Given the description of an element on the screen output the (x, y) to click on. 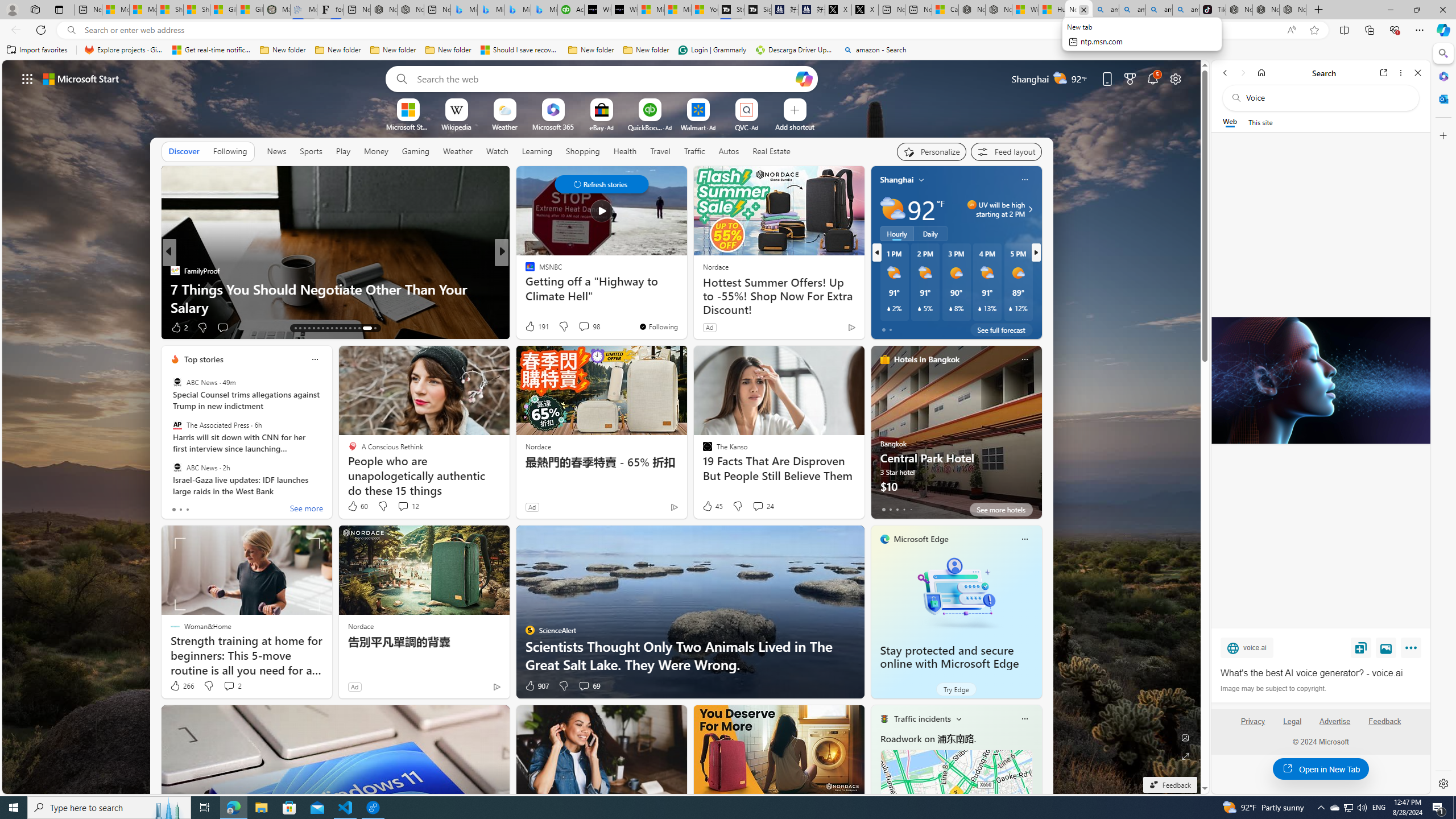
Autos (728, 151)
next (1035, 252)
Add a site (793, 126)
View image (1385, 647)
ABC News (176, 466)
Feed settings (1005, 151)
Search the web (1326, 97)
Travel (660, 151)
Search icon (70, 29)
7 Things You Should Negotiate Other Than Your Salary (335, 298)
